Given the description of an element on the screen output the (x, y) to click on. 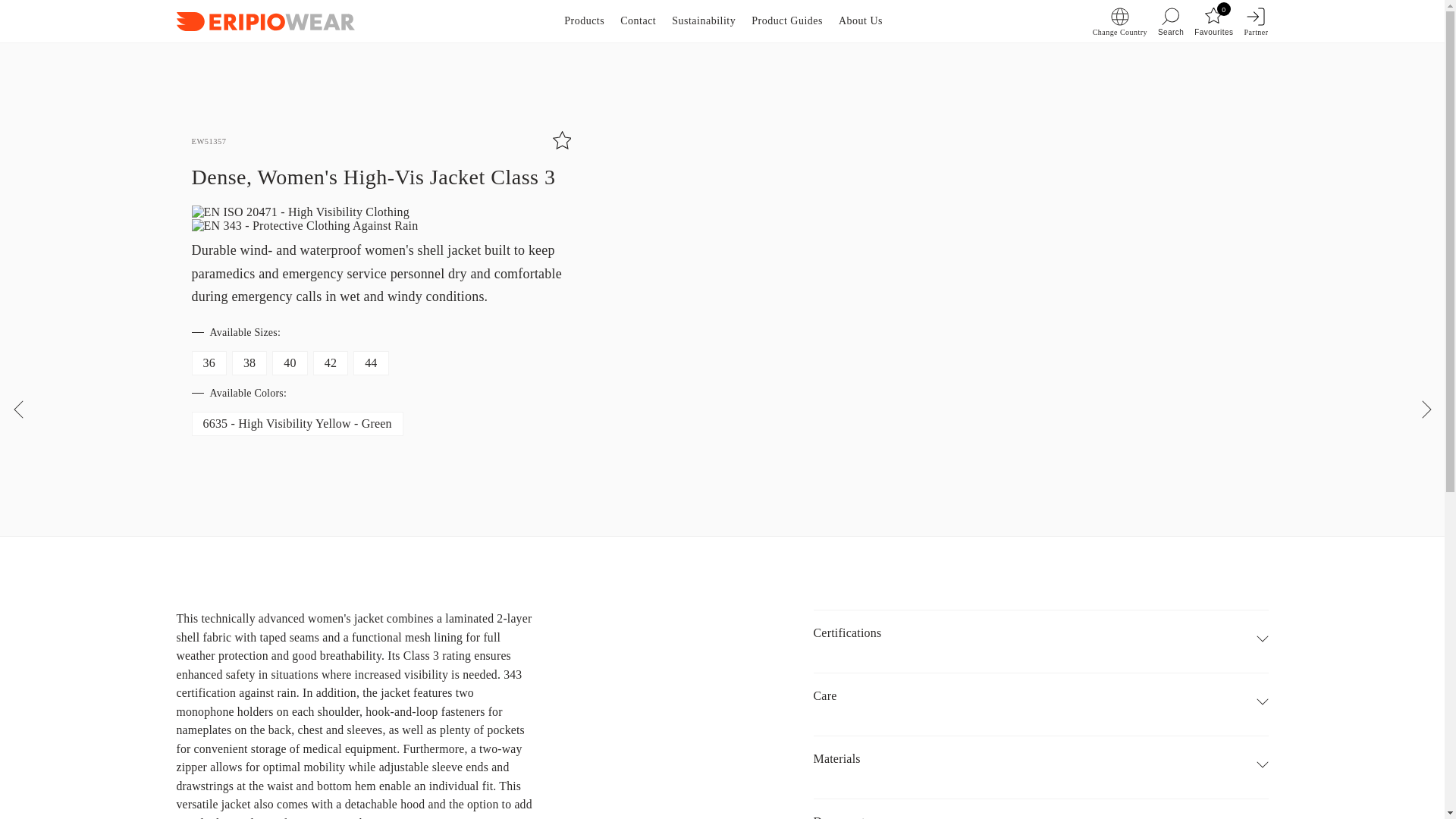
Sustainability (703, 21)
About Us (860, 21)
Product Guides (786, 21)
Search (1170, 21)
Products (584, 21)
Partner (1255, 21)
Change Country (1213, 21)
Contact (1120, 21)
